Given the description of an element on the screen output the (x, y) to click on. 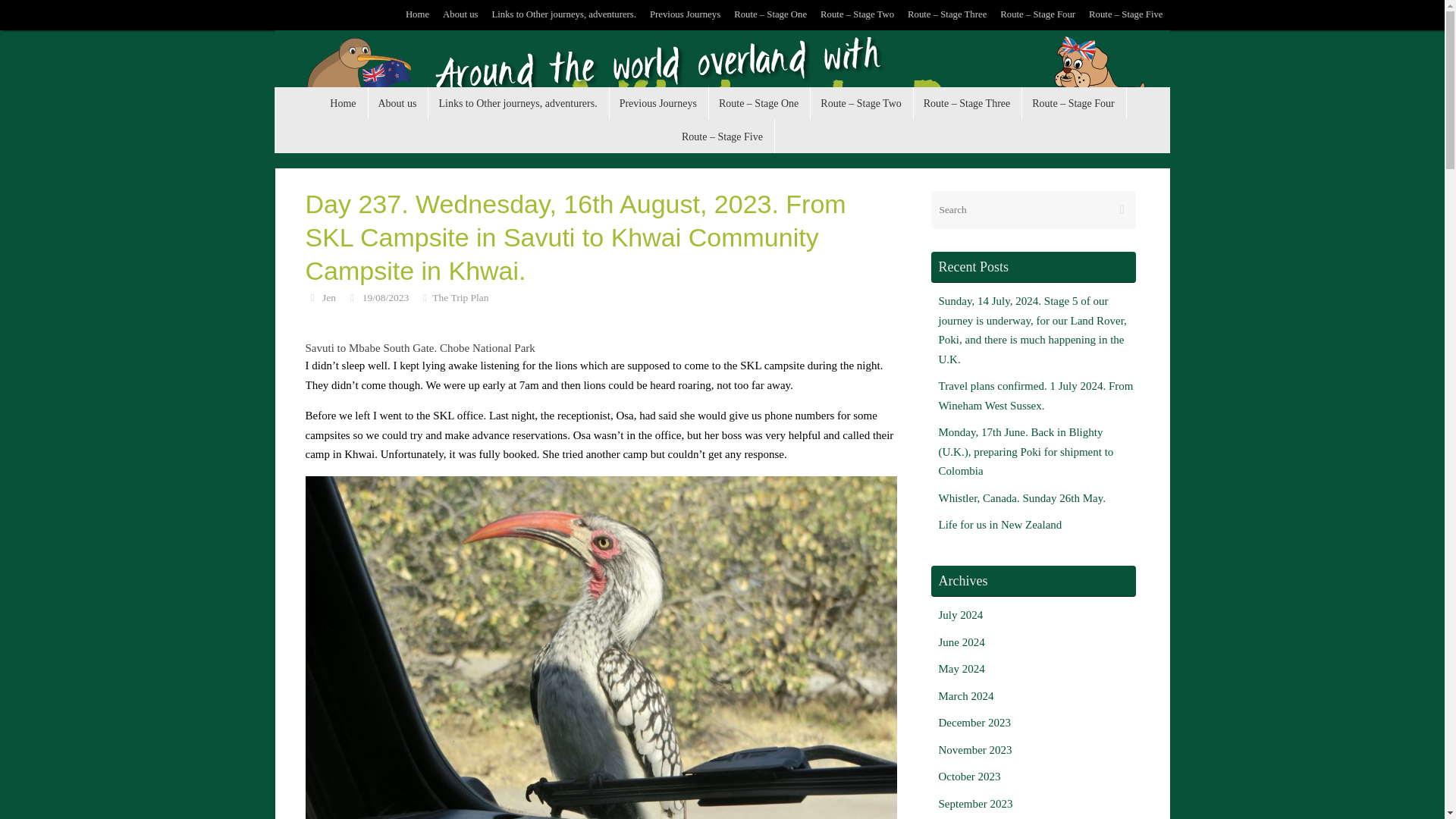
About us (459, 15)
May 2024 (962, 668)
Search (1121, 209)
View all posts by Jen (328, 297)
July 2024 (961, 614)
Jen (328, 297)
Home (342, 102)
Author (311, 297)
Previous Journeys (684, 15)
Categories (424, 297)
Links to Other journeys, adventurers. (563, 15)
Life for us in New Zealand (1000, 524)
